Given the description of an element on the screen output the (x, y) to click on. 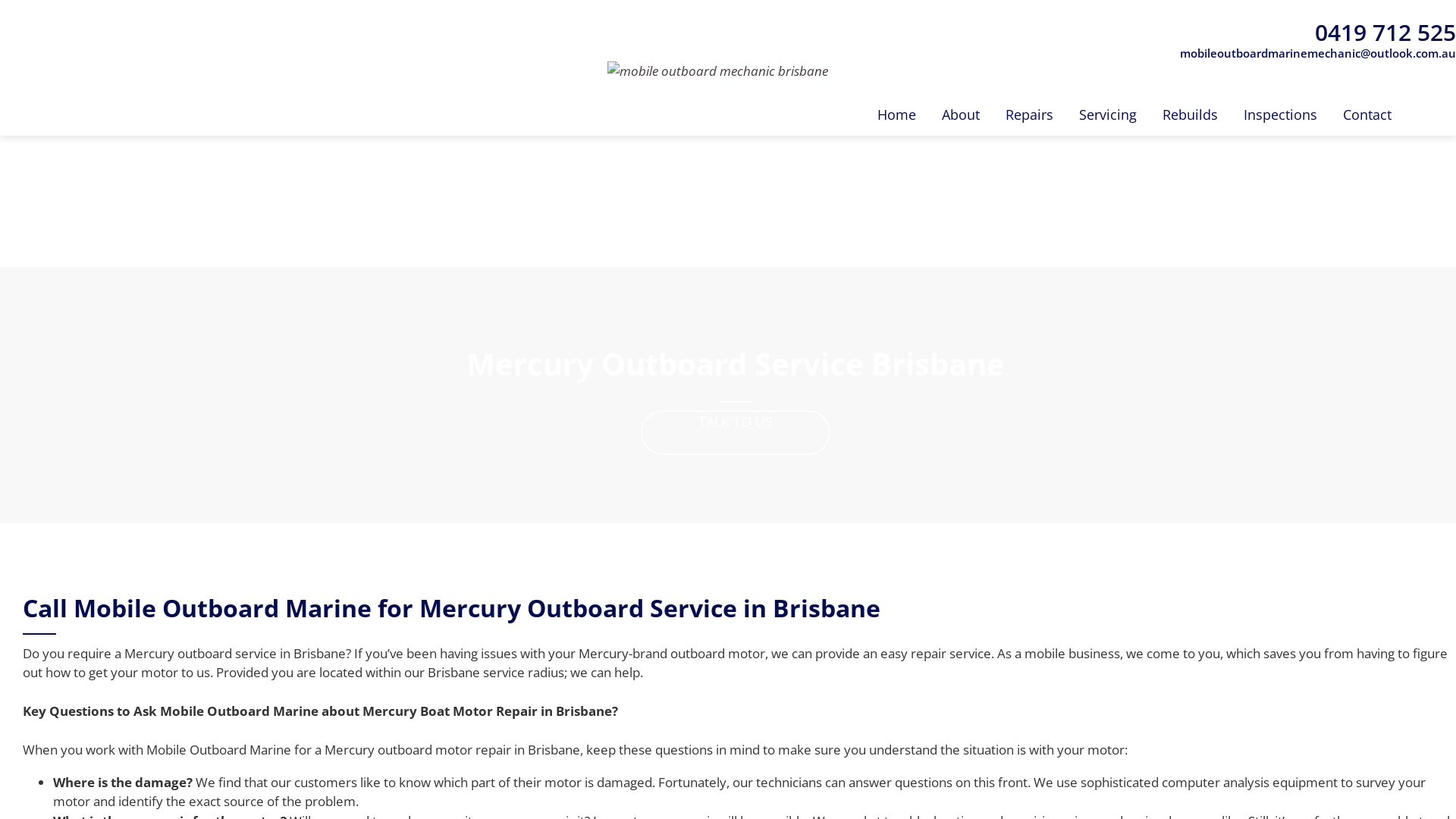
Servicing Element type: text (1107, 114)
About Element type: text (960, 114)
Repairs Element type: text (1029, 114)
Inspections Element type: text (1280, 114)
TALK TO US Element type: text (735, 432)
Rebuilds Element type: text (1189, 114)
Home Element type: text (896, 114)
Contact Element type: text (1367, 114)
